Given the description of an element on the screen output the (x, y) to click on. 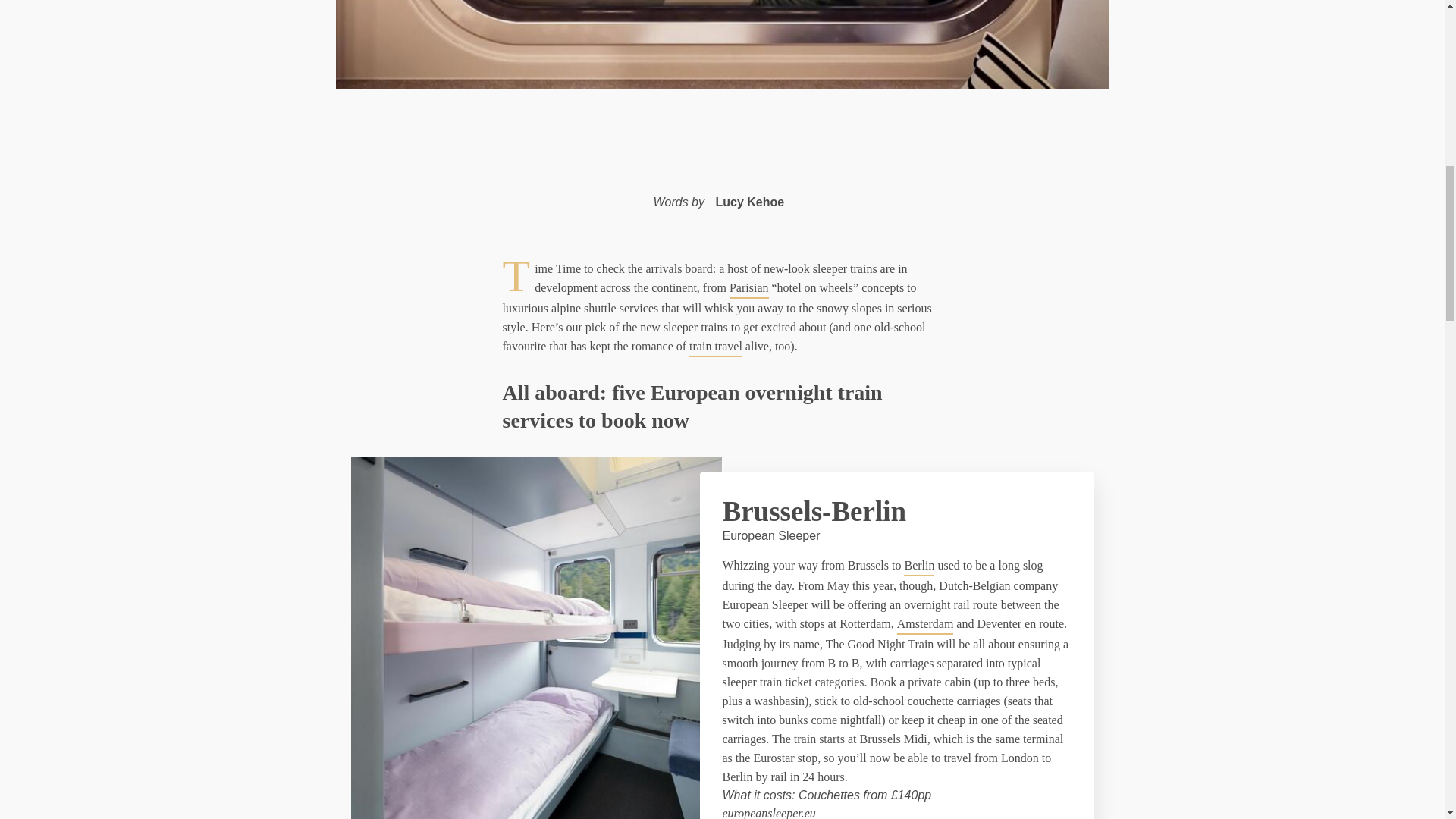
train travel (715, 346)
Parisian (748, 288)
Lucy Kehoe (749, 202)
Amsterdam (924, 624)
Berlin (919, 566)
